Given the description of an element on the screen output the (x, y) to click on. 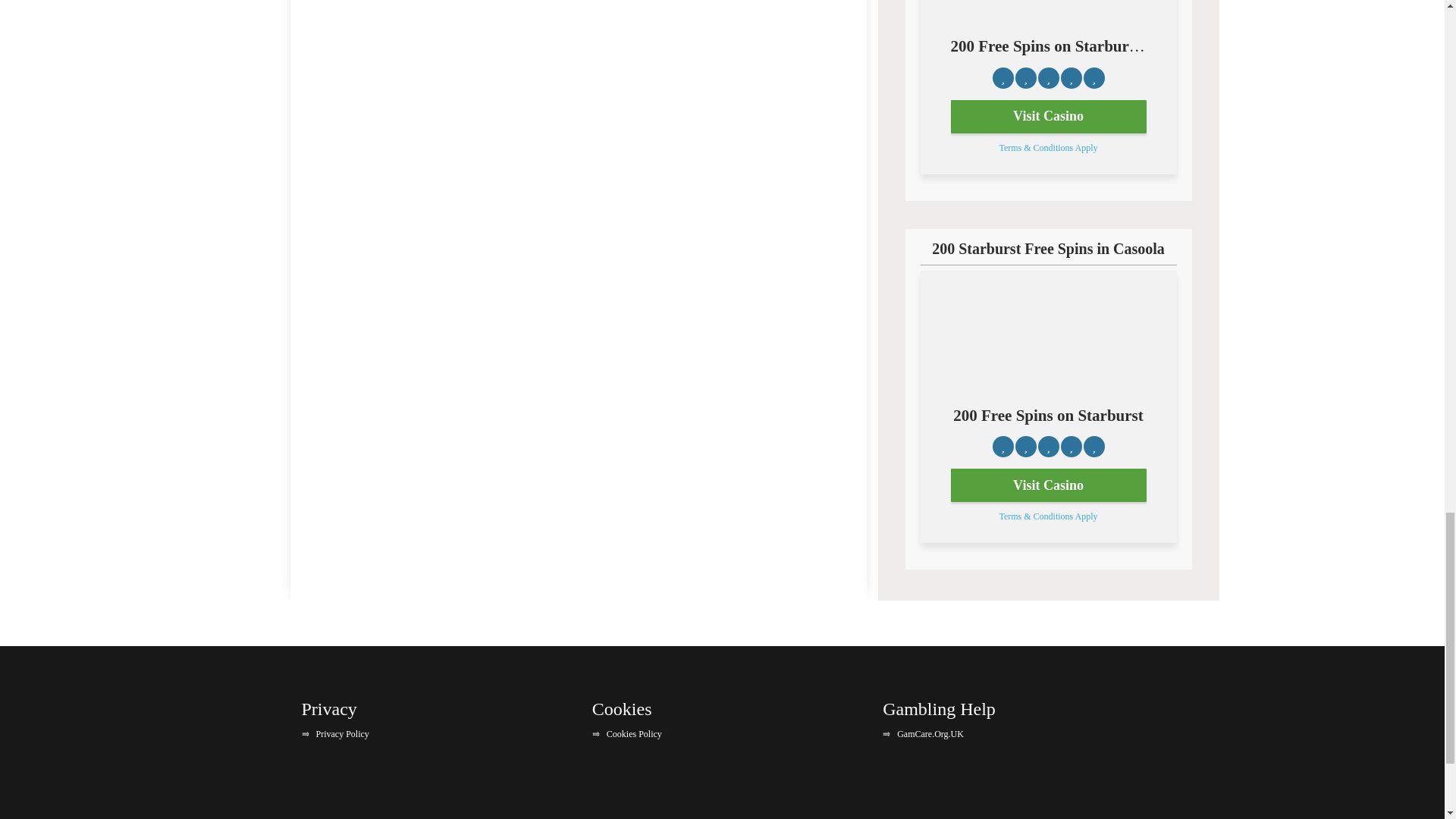
Visit Casino (1048, 116)
Visit Casino (1048, 485)
